Given the description of an element on the screen output the (x, y) to click on. 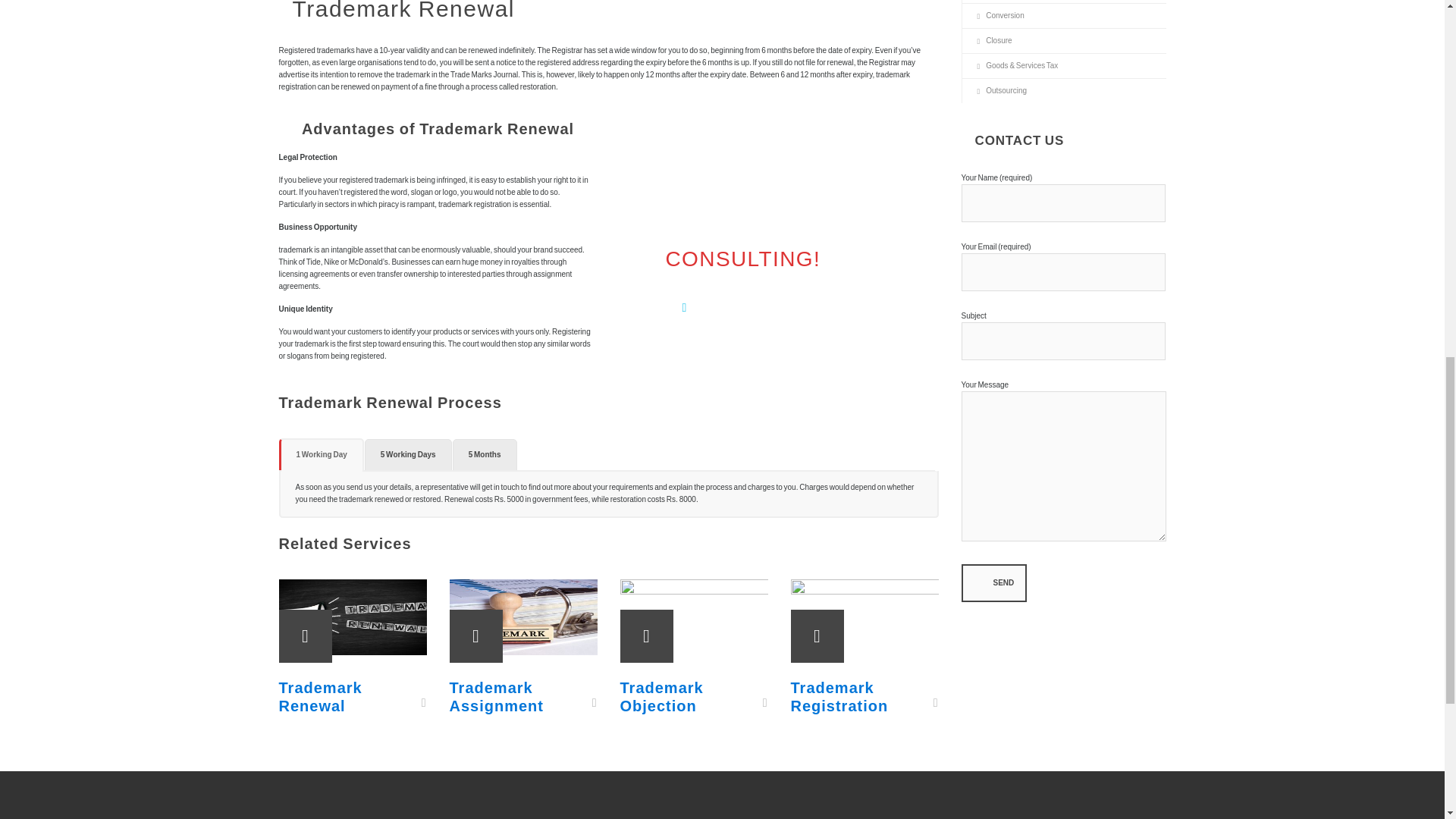
Send (993, 582)
